Given the description of an element on the screen output the (x, y) to click on. 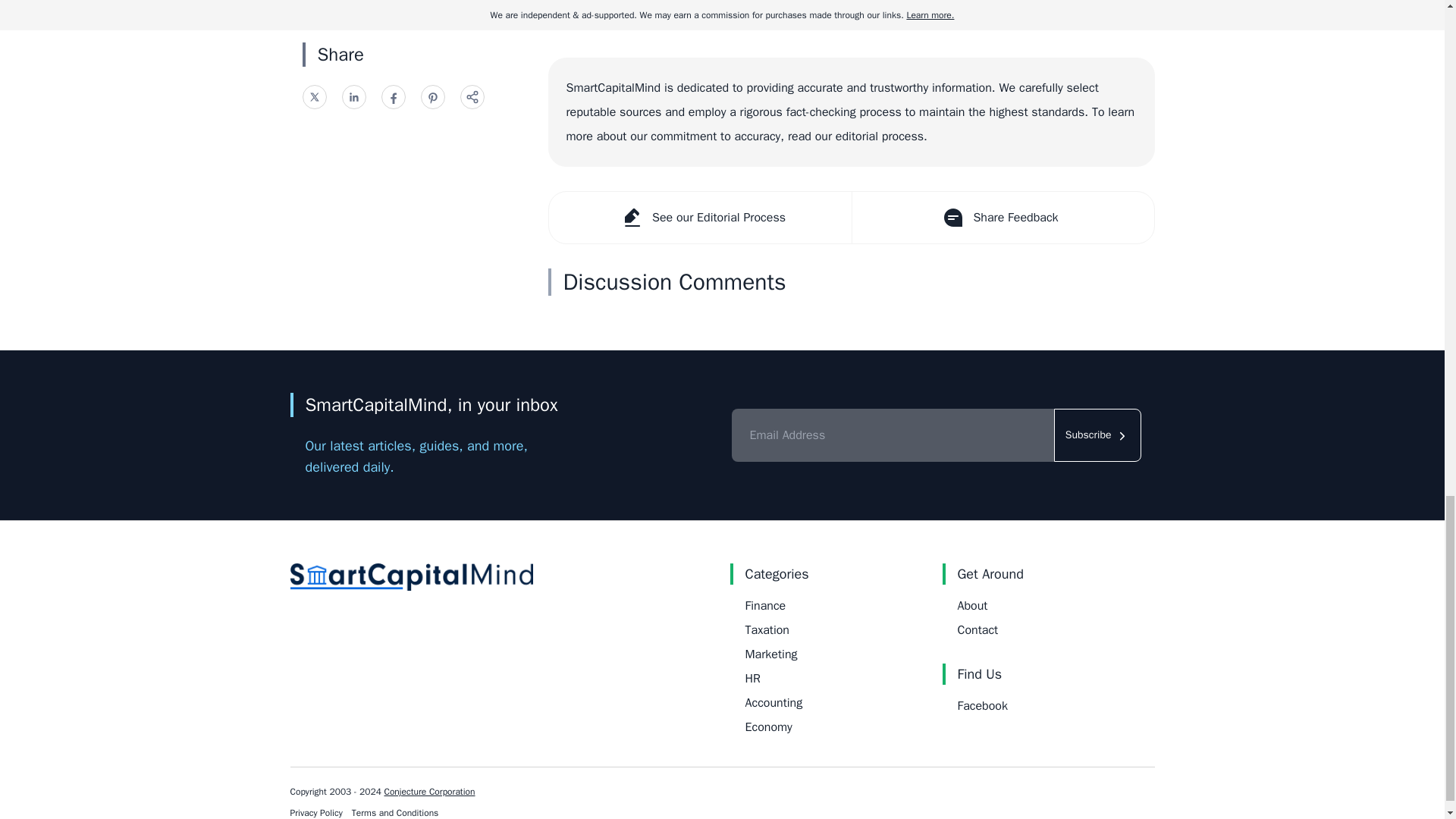
Share Feedback (1001, 217)
See our Editorial Process (699, 217)
